Given the description of an element on the screen output the (x, y) to click on. 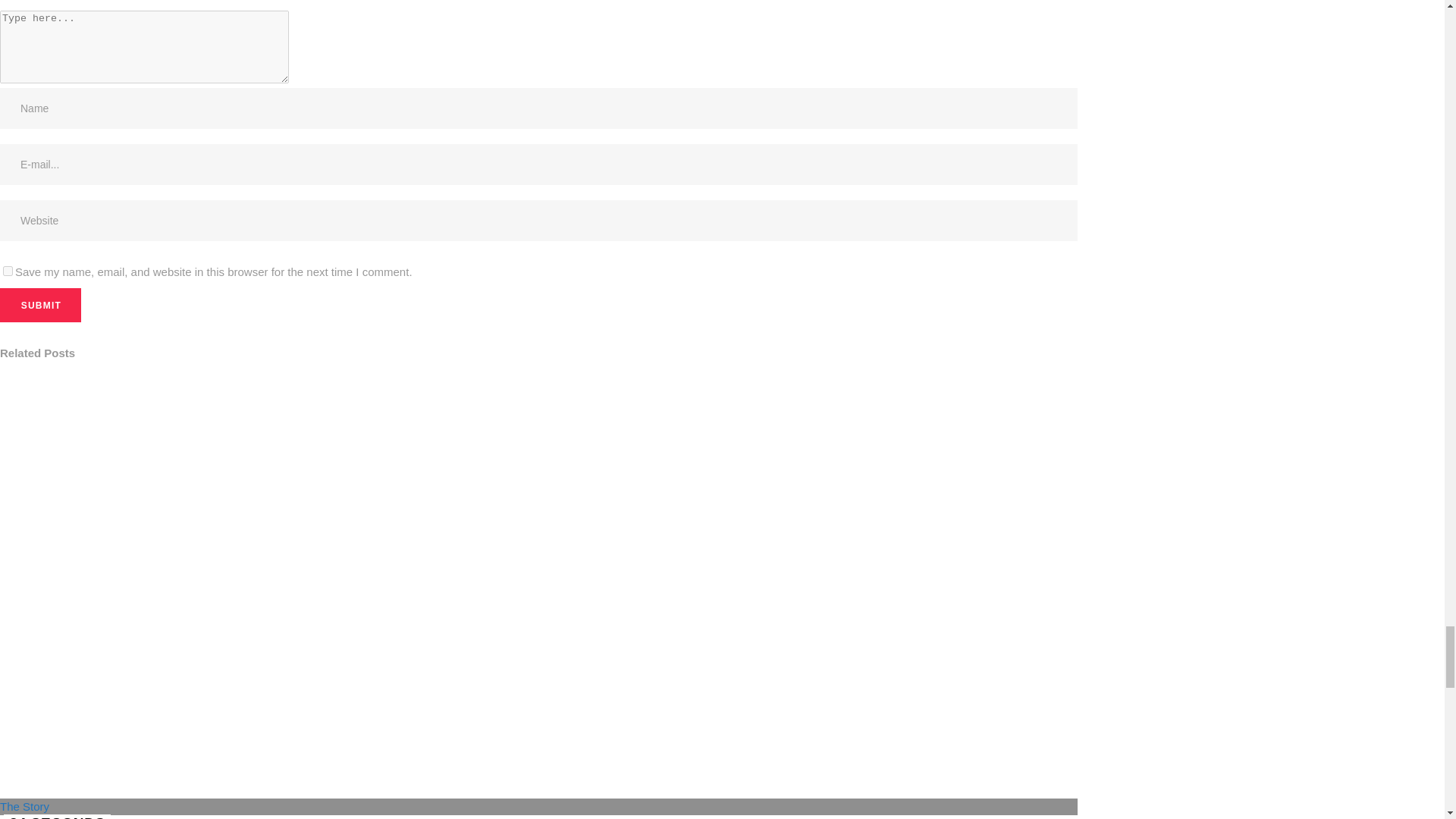
yes (7, 271)
